Given the description of an element on the screen output the (x, y) to click on. 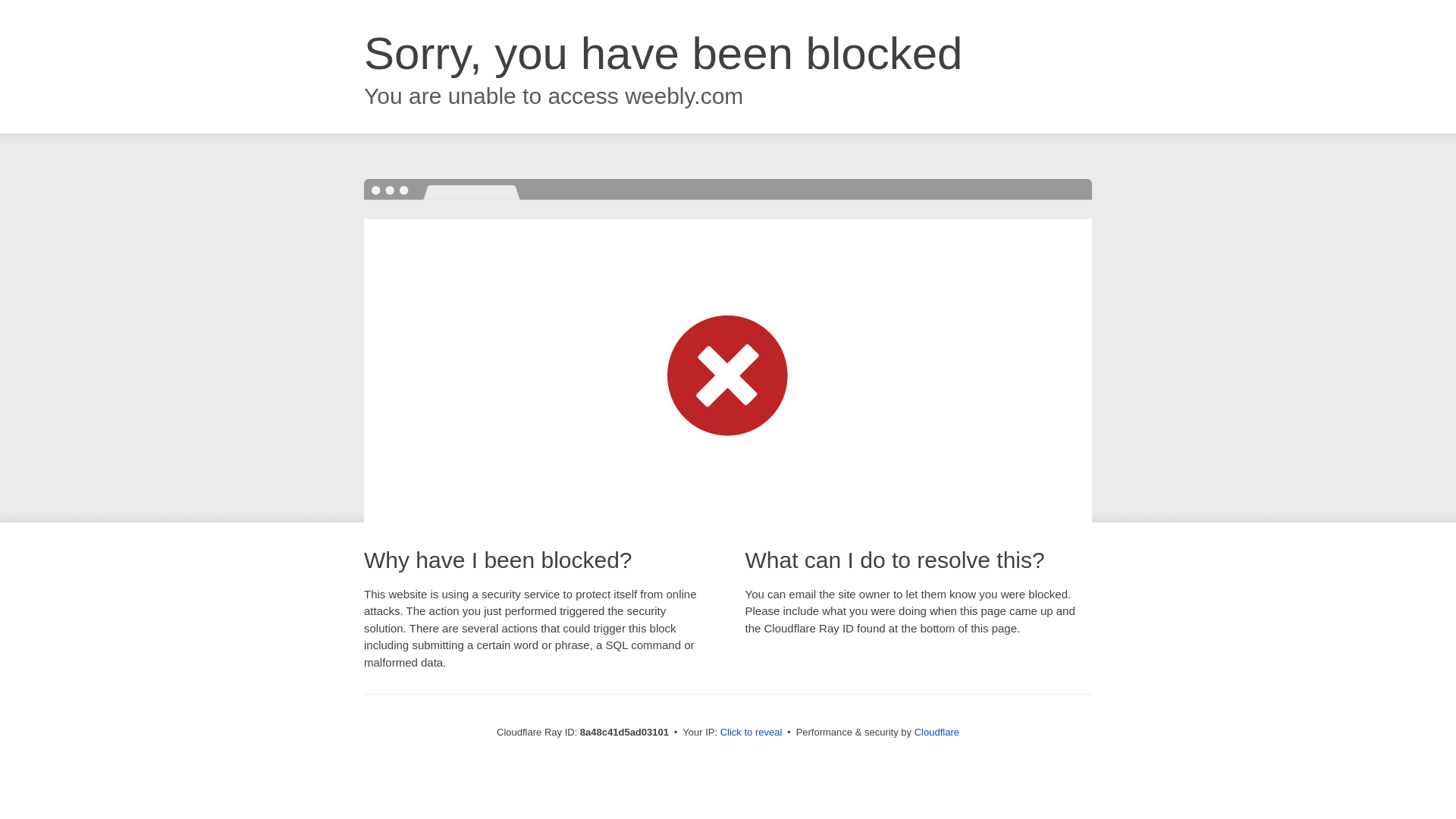
Cloudflare (936, 731)
Click to reveal (751, 732)
